Given the description of an element on the screen output the (x, y) to click on. 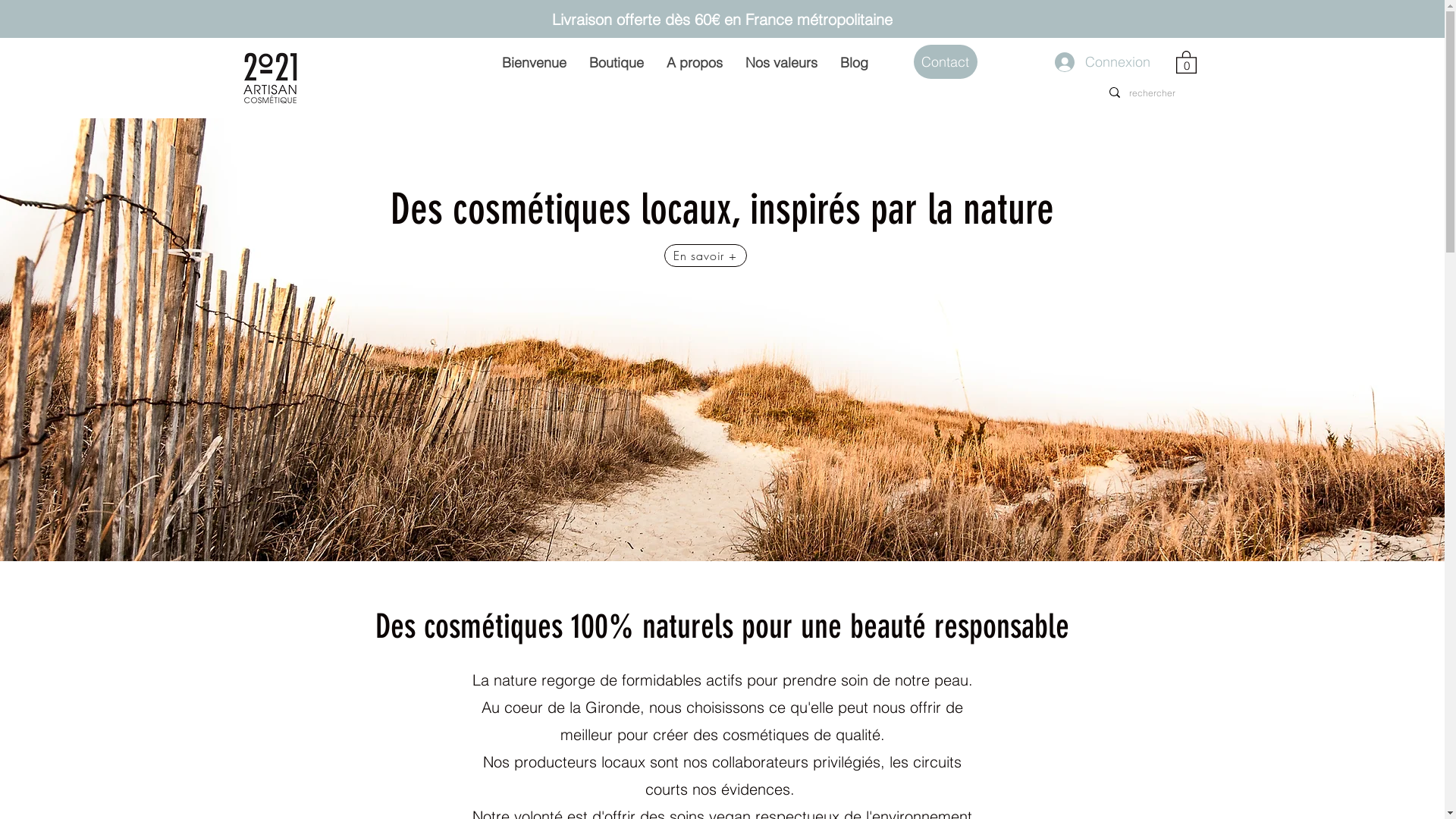
Boutique Element type: text (616, 61)
Blog Element type: text (853, 61)
0 Element type: text (1185, 61)
Connexion Element type: text (1075, 61)
A propos Element type: text (694, 61)
Contact Element type: text (944, 61)
Bienvenue Element type: text (533, 61)
Nos valeurs Element type: text (781, 61)
En savoir + Element type: text (705, 255)
